Given the description of an element on the screen output the (x, y) to click on. 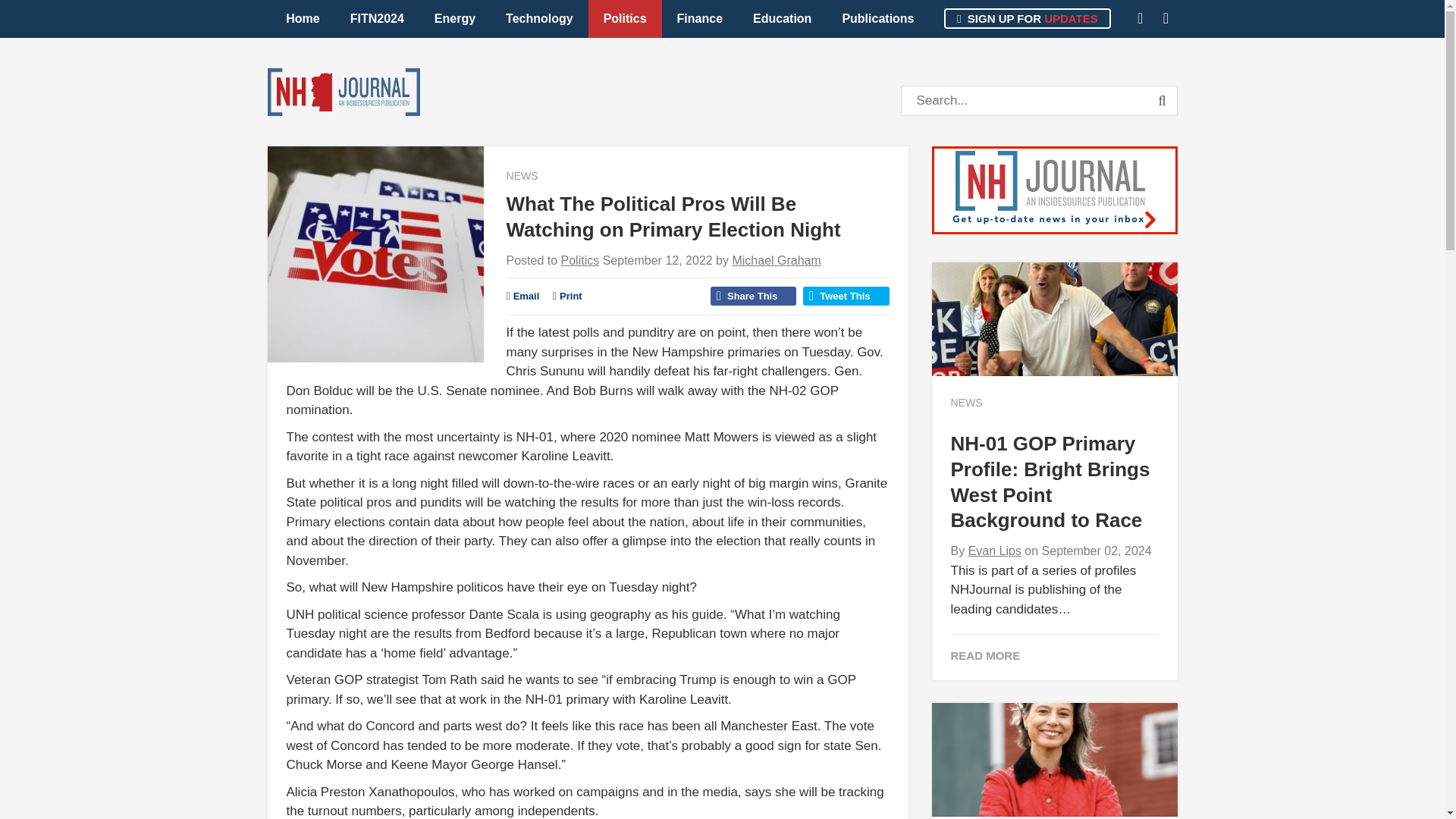
Politics (625, 18)
Print (567, 296)
Share This (753, 295)
Energy (454, 18)
Home (302, 18)
Posts by Michael Graham (776, 259)
FITN2024 (376, 18)
Posts by Evan Lips (995, 550)
Technology (539, 18)
Publications (877, 18)
